Given the description of an element on the screen output the (x, y) to click on. 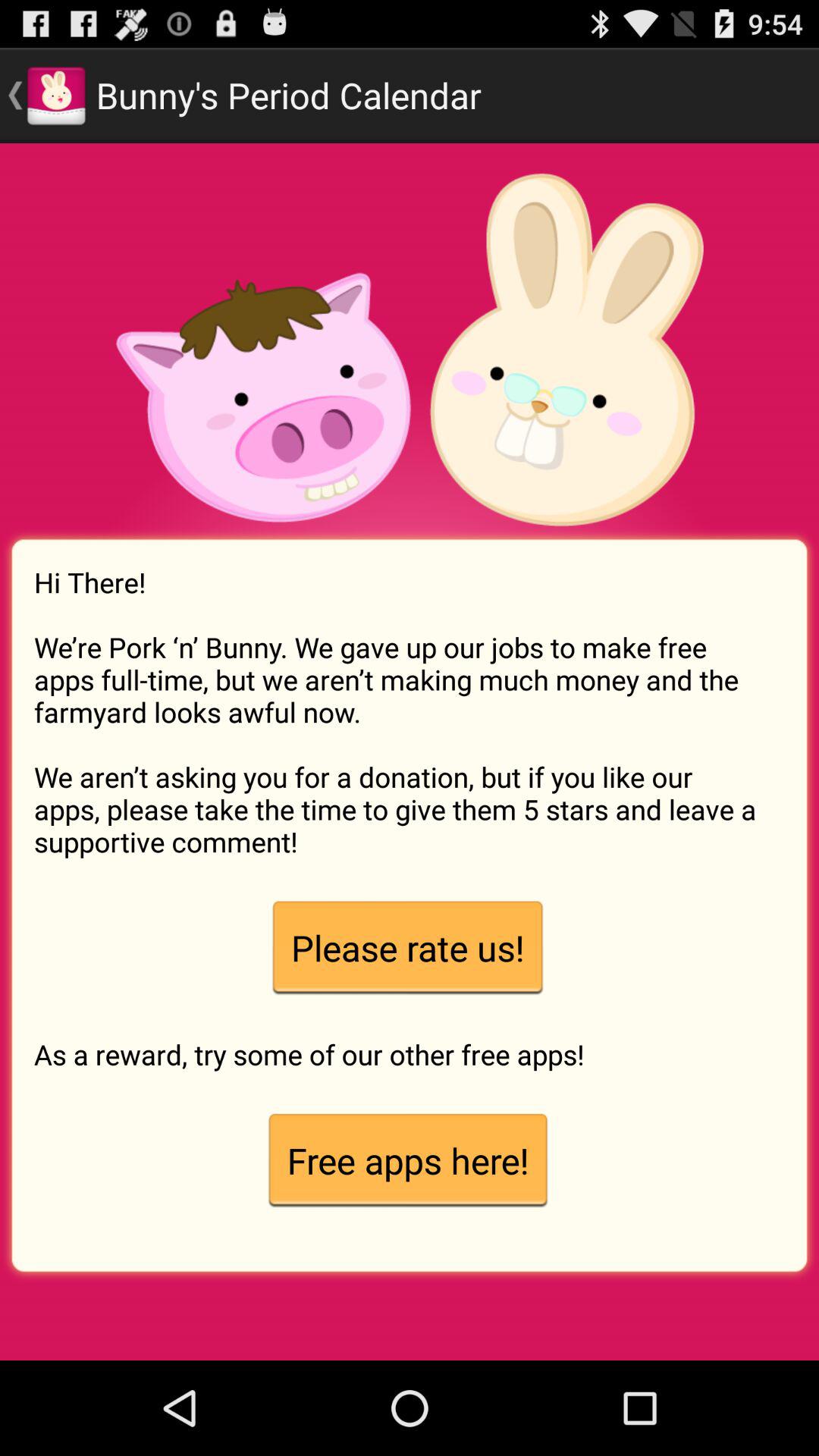
tap app below the hi there we icon (407, 947)
